Given the description of an element on the screen output the (x, y) to click on. 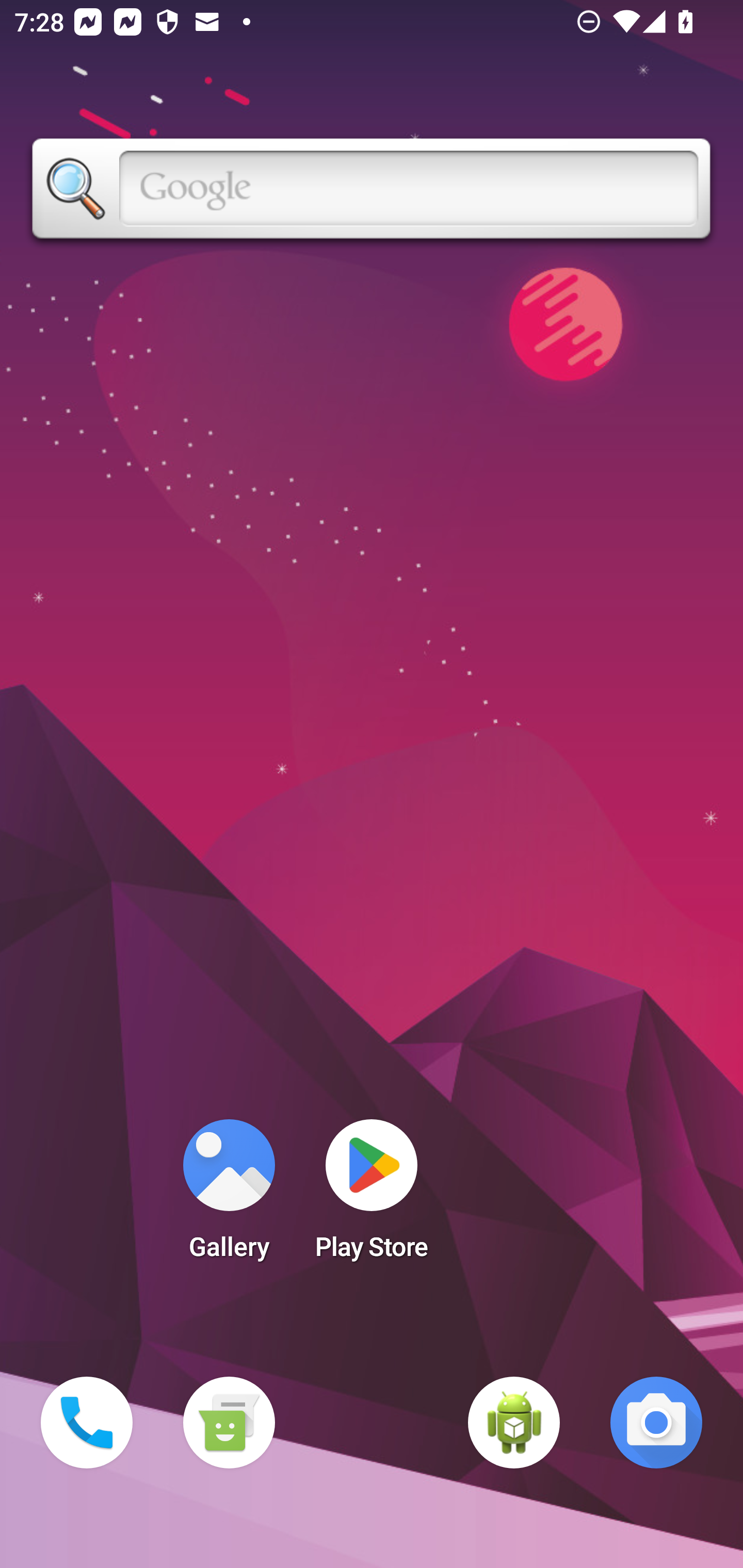
Gallery (228, 1195)
Play Store (371, 1195)
Phone (86, 1422)
Messaging (228, 1422)
WebView Browser Tester (513, 1422)
Camera (656, 1422)
